Given the description of an element on the screen output the (x, y) to click on. 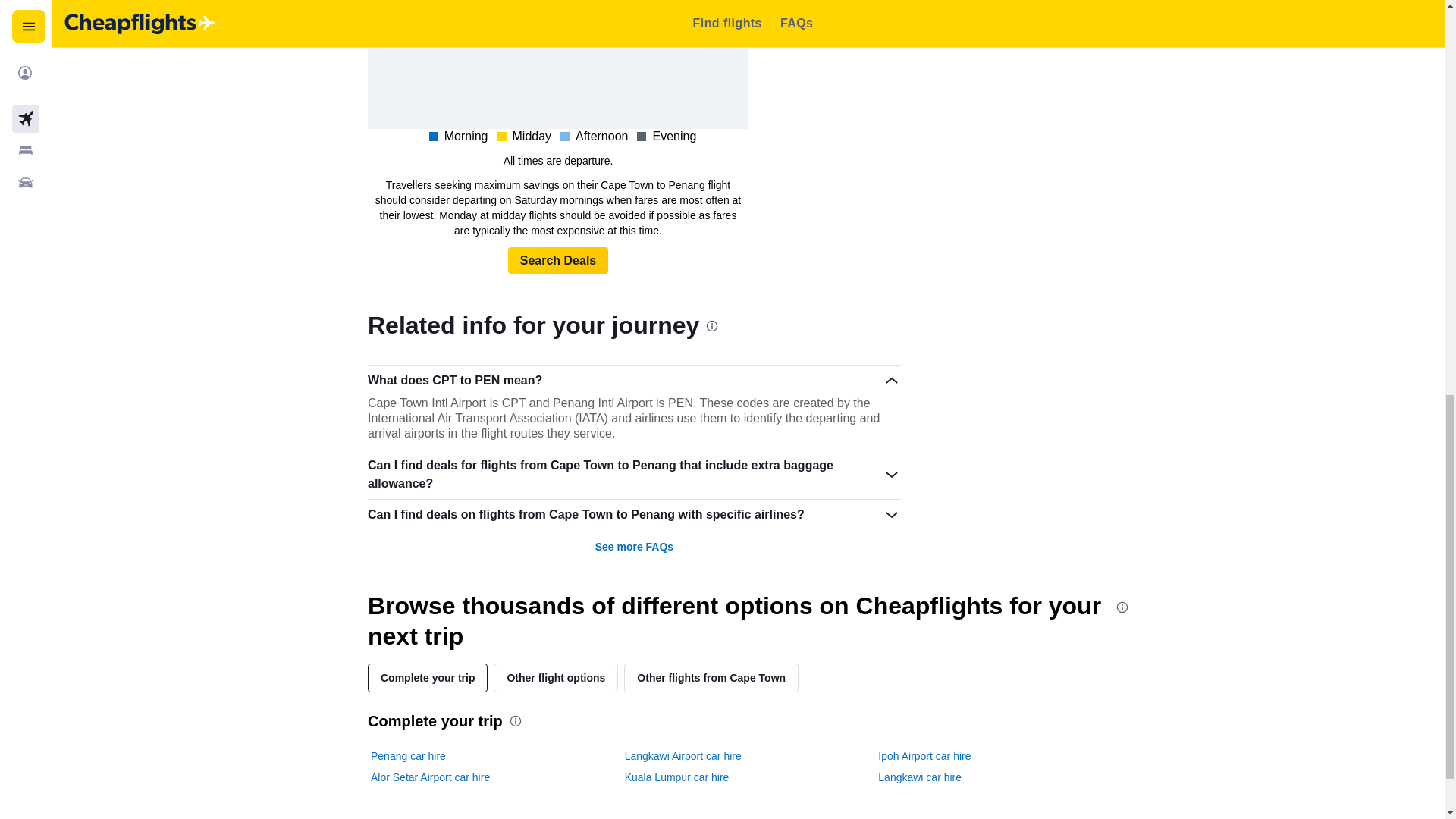
Complete your trip (427, 677)
Langkawi car hire (918, 776)
Alor Setar Airport car hire (430, 776)
Other flight options (555, 677)
Langkawi Airport car hire (682, 755)
Ipoh Airport car hire (924, 755)
Search Deals (558, 260)
Other flights from Cape Town (710, 677)
Kuala Lumpur car hire (676, 776)
Penang car hire (408, 755)
